Given the description of an element on the screen output the (x, y) to click on. 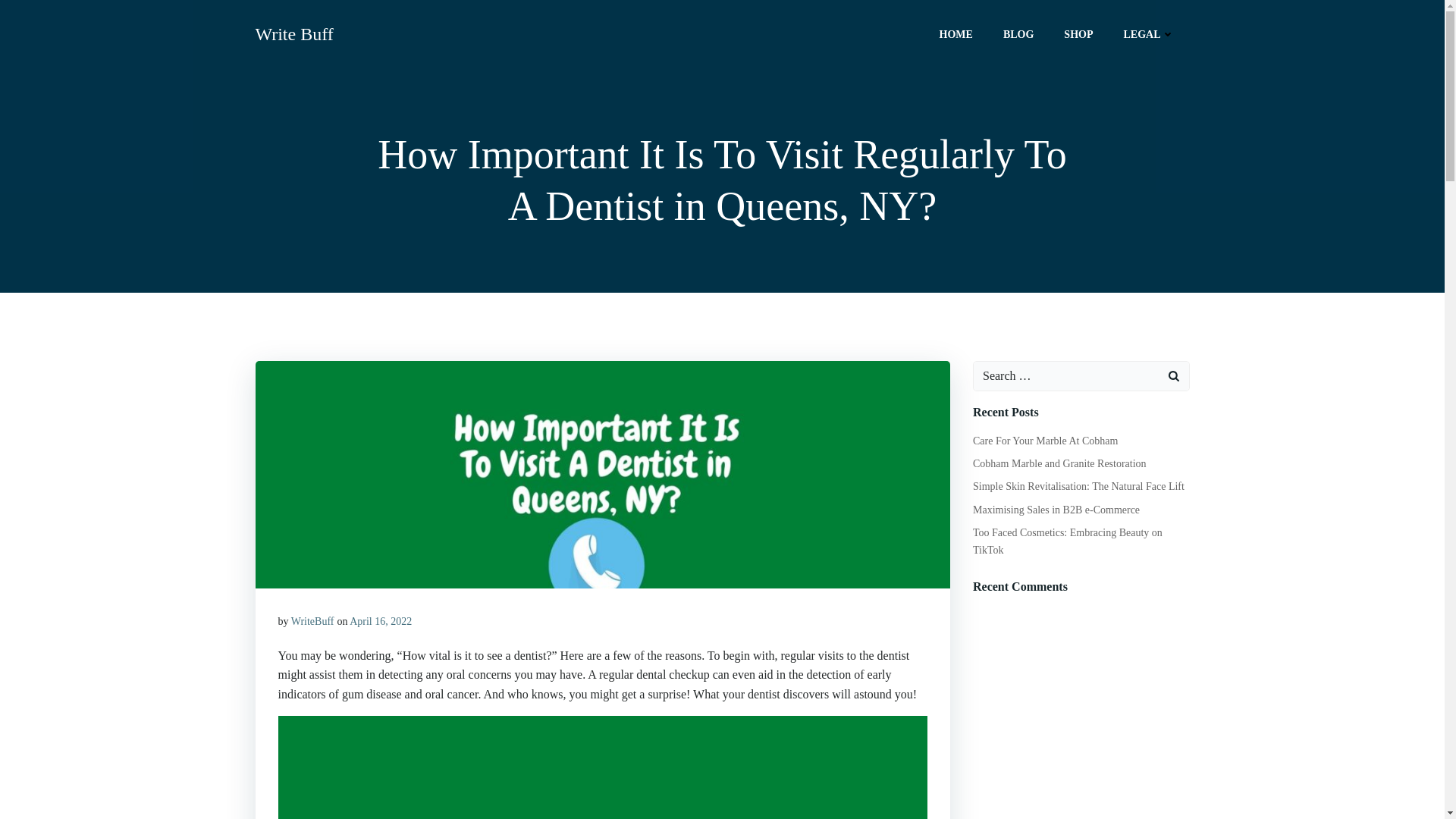
WriteBuff (312, 621)
SHOP (1078, 33)
HOME (955, 33)
LEGAL (1147, 33)
Cobham Marble and Granite Restoration (1059, 463)
Write Buff (293, 33)
Too Faced Cosmetics: Embracing Beauty on TikTok (1066, 541)
April 16, 2022 (380, 621)
Search  (29, 14)
Simple Skin Revitalisation: The Natural Face Lift (1078, 486)
